Given the description of an element on the screen output the (x, y) to click on. 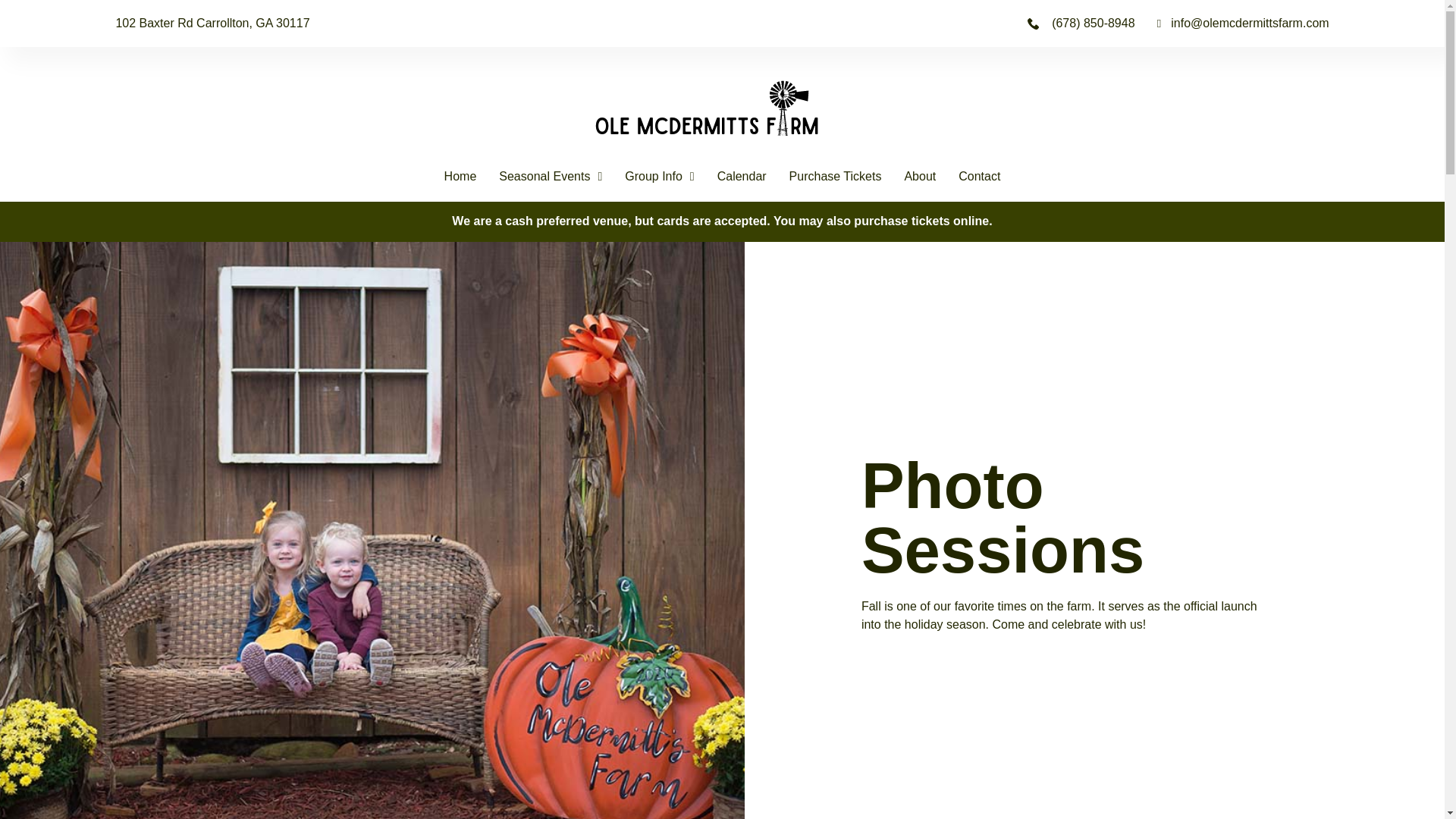
Calendar (742, 176)
Contact (979, 176)
Home (460, 176)
About (920, 176)
Group Info (659, 176)
Purchase Tickets (835, 176)
Seasonal Events (550, 176)
